Given the description of an element on the screen output the (x, y) to click on. 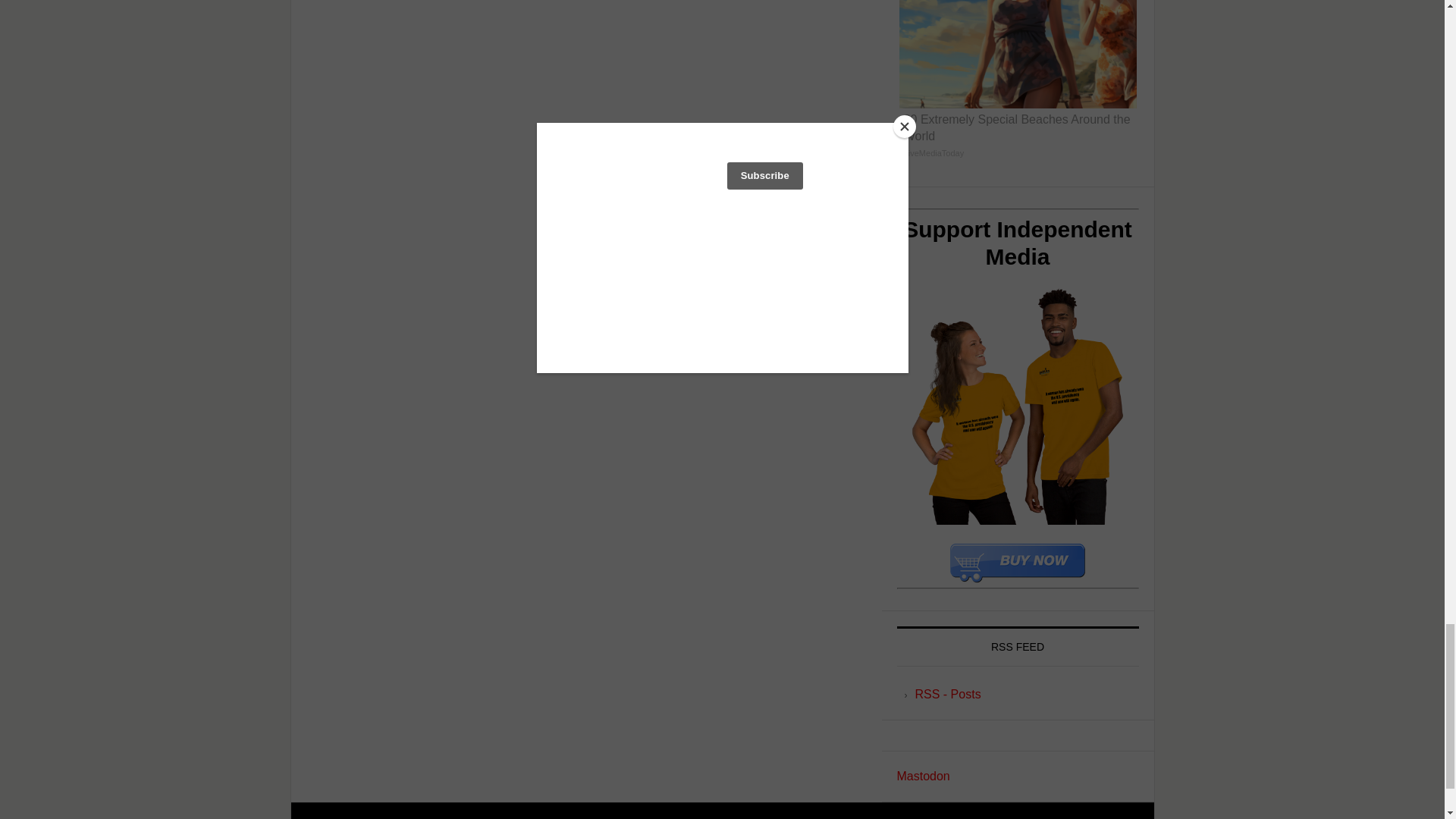
20 Extremely Special Beaches Around the World (1018, 84)
Subscribe to posts (946, 694)
